Given the description of an element on the screen output the (x, y) to click on. 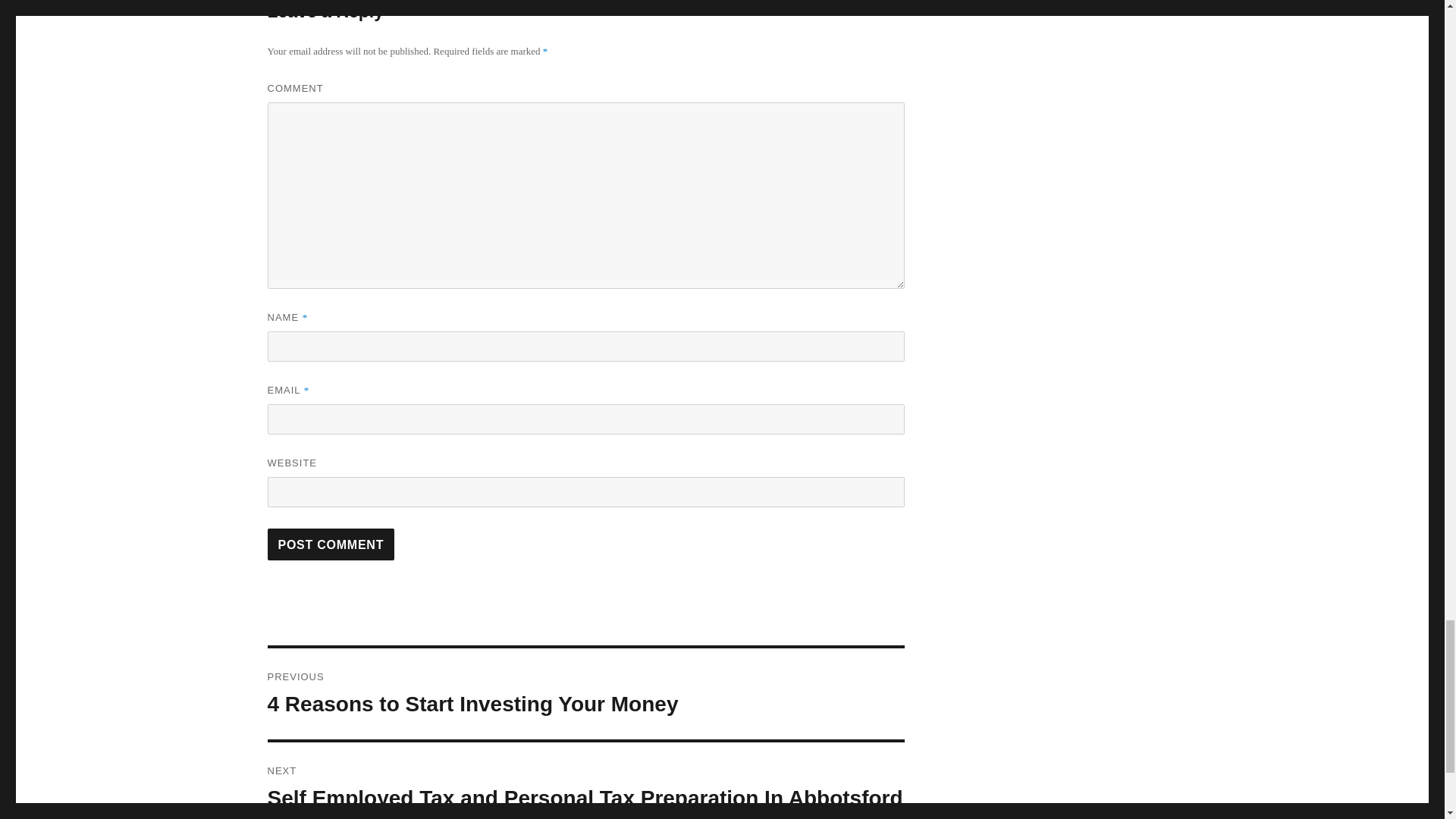
Post Comment (330, 544)
Post Comment (330, 544)
